Given the description of an element on the screen output the (x, y) to click on. 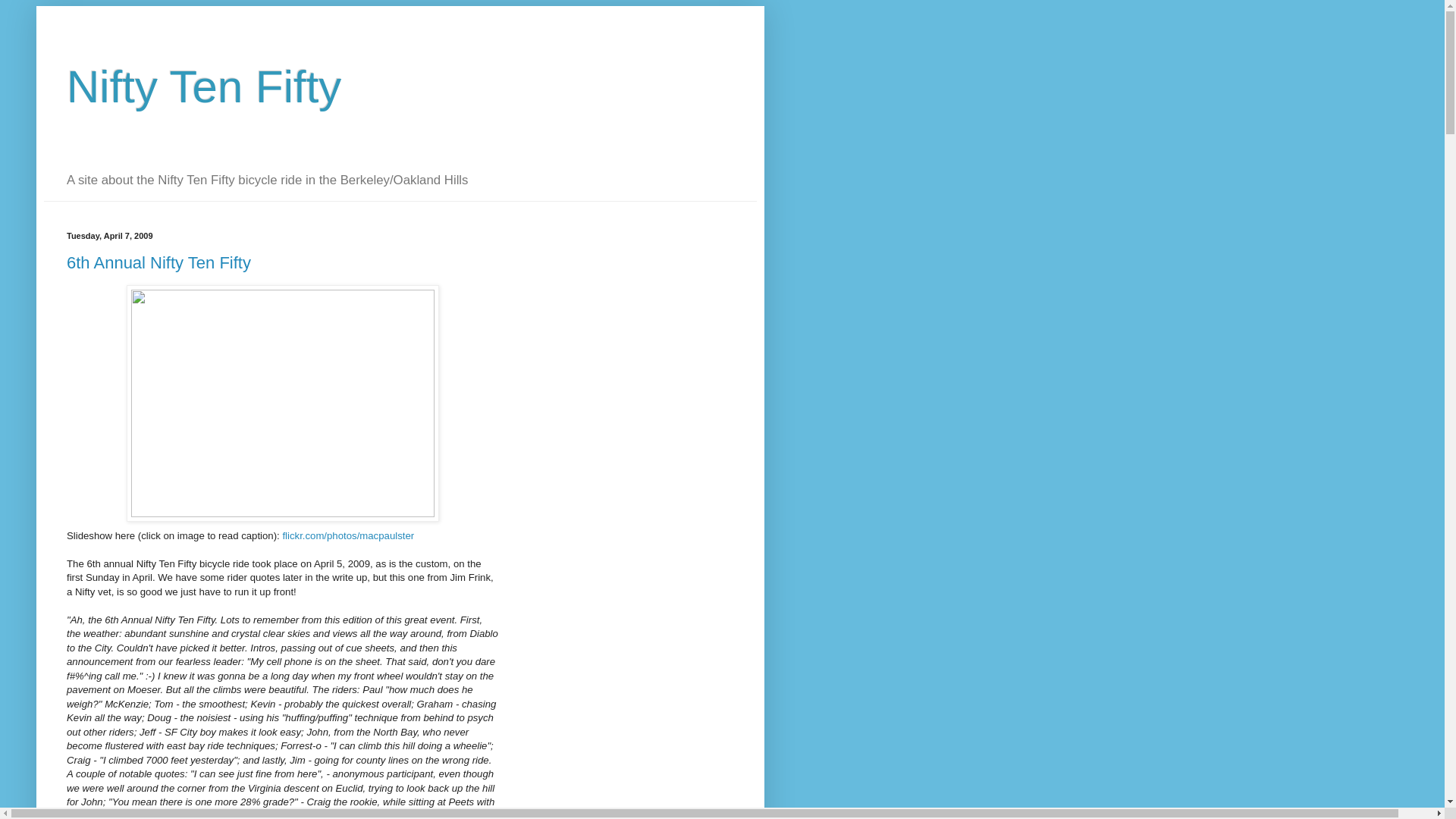
6th Annual Nifty Ten Fifty (158, 262)
Nifty Ten Fifty (203, 86)
